Given the description of an element on the screen output the (x, y) to click on. 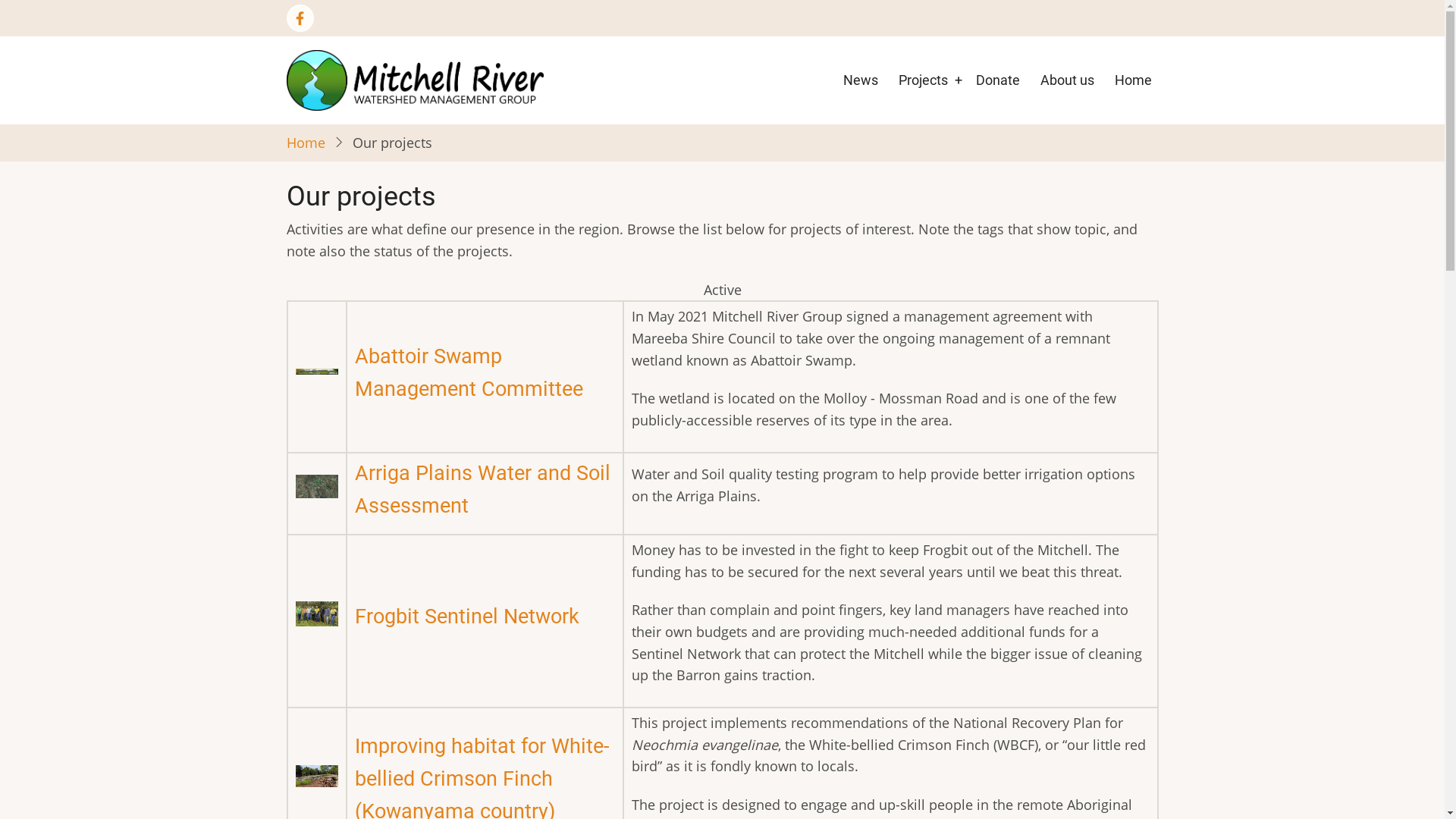
Home Element type: text (1132, 80)
Home Element type: hover (414, 78)
Frogbit Sentinel Network Element type: text (466, 616)
Skip to main content Element type: text (0, 0)
About us Element type: text (1066, 80)
News Element type: text (859, 80)
Arriga Plains Water and Soil Assessment Element type: text (482, 489)
Projects Element type: text (922, 80)
Home Element type: text (305, 142)
PayPal - The safer, easier way to pay online! Element type: hover (434, 359)
Donate Element type: text (997, 80)
Abattoir Swamp Management Committee Element type: text (468, 372)
